Given the description of an element on the screen output the (x, y) to click on. 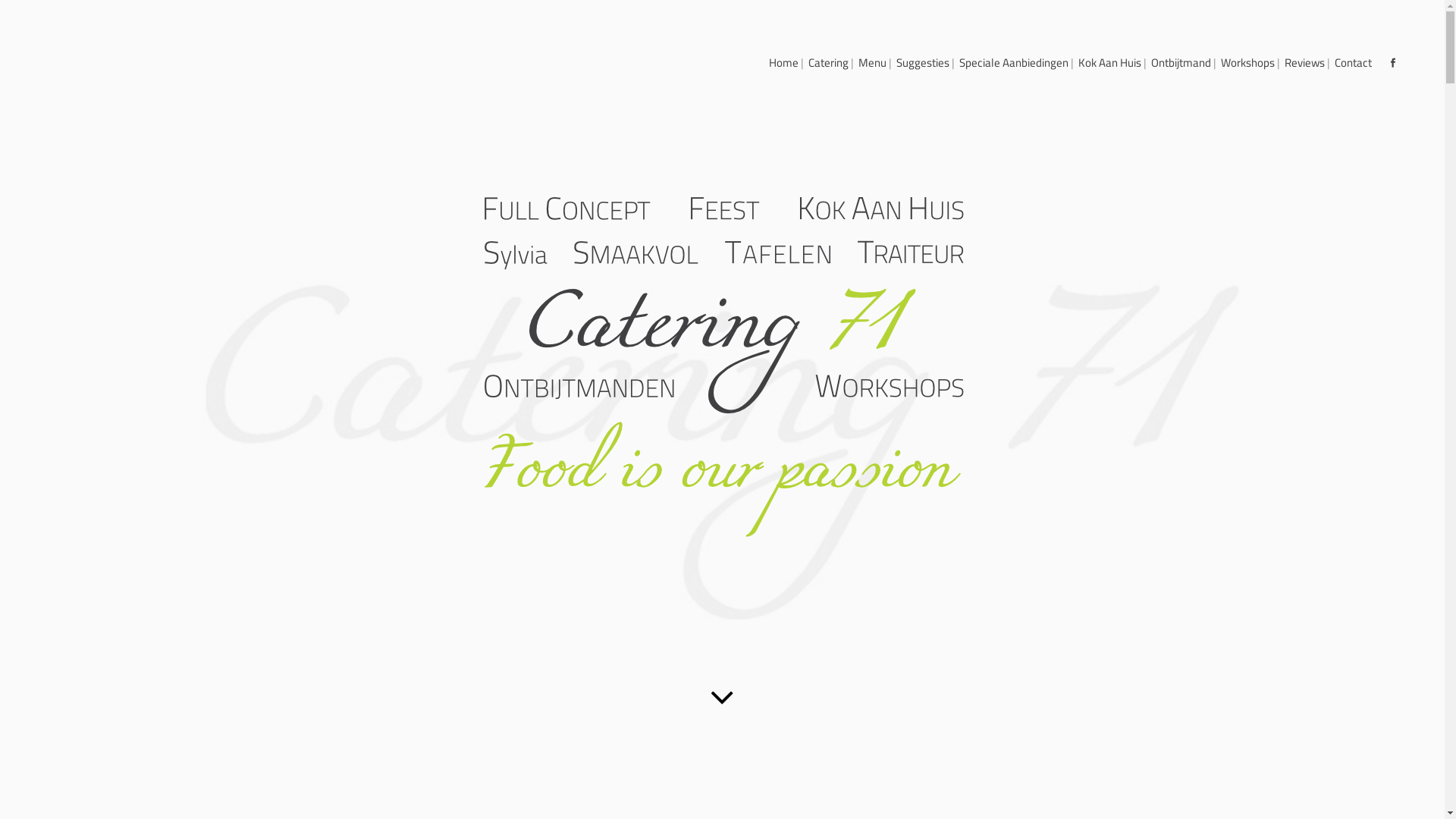
Menu Element type: text (872, 62)
Kok Aan Huis Element type: text (1109, 62)
Catering Element type: text (828, 62)
Speciale Aanbiedingen Element type: text (1013, 62)
Suggesties Element type: text (922, 62)
Reviews Element type: text (1304, 62)
Contact Element type: text (1352, 62)
Workshops Element type: text (1247, 62)
Home Element type: text (783, 62)
Ontbijtmand Element type: text (1180, 62)
